Given the description of an element on the screen output the (x, y) to click on. 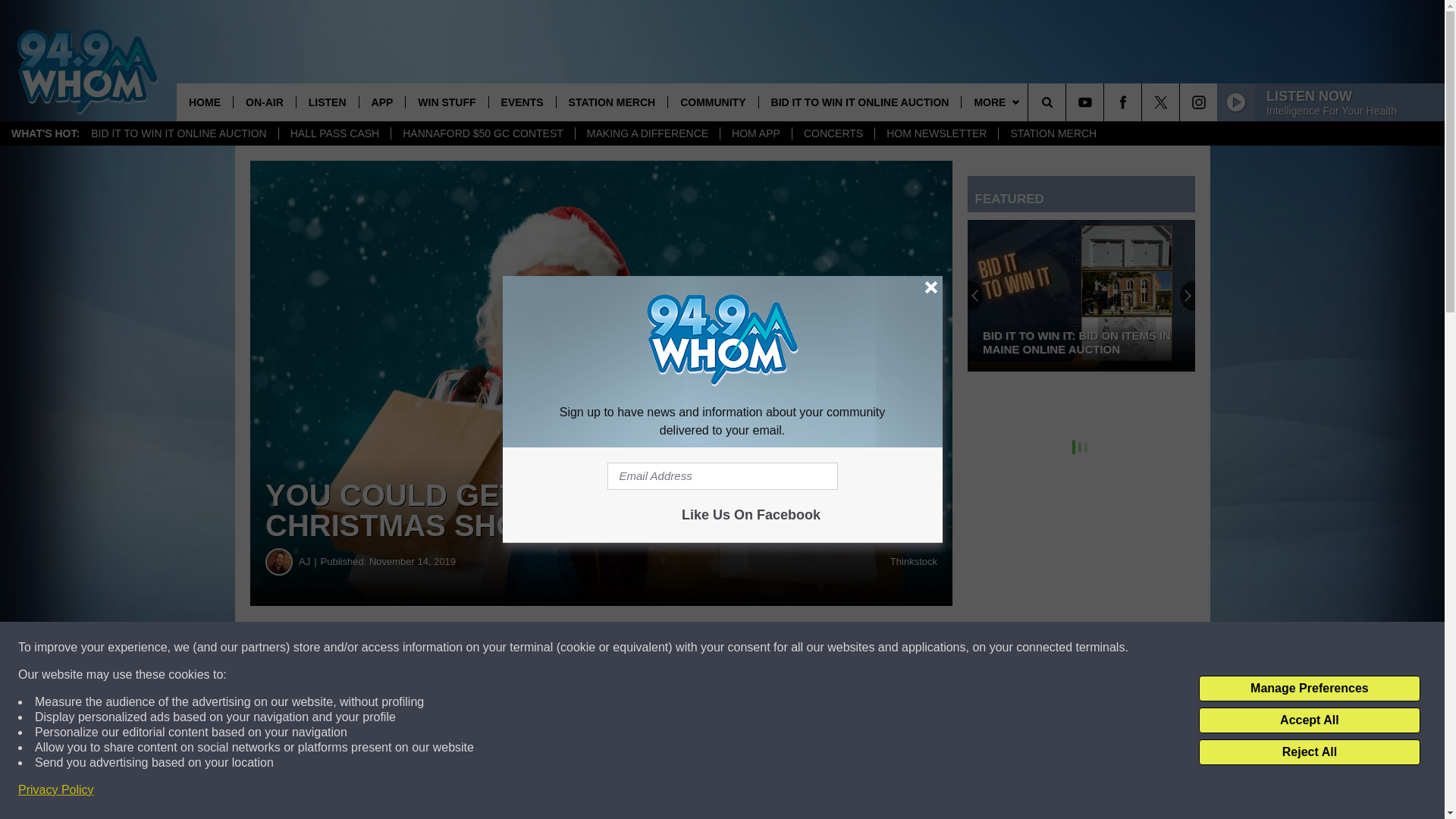
BID IT TO WIN IT ONLINE AUCTION (179, 133)
LISTEN (326, 102)
Email Address (722, 475)
WIN STUFF (445, 102)
Reject All (1309, 751)
HALL PASS CASH (334, 133)
Accept All (1309, 720)
STATION MERCH (1052, 133)
MAKING A DIFFERENCE (647, 133)
APP (382, 102)
CONCERTS (833, 133)
HOME (204, 102)
SEARCH (1068, 102)
Share on Facebook (460, 647)
HOM APP (755, 133)
